Given the description of an element on the screen output the (x, y) to click on. 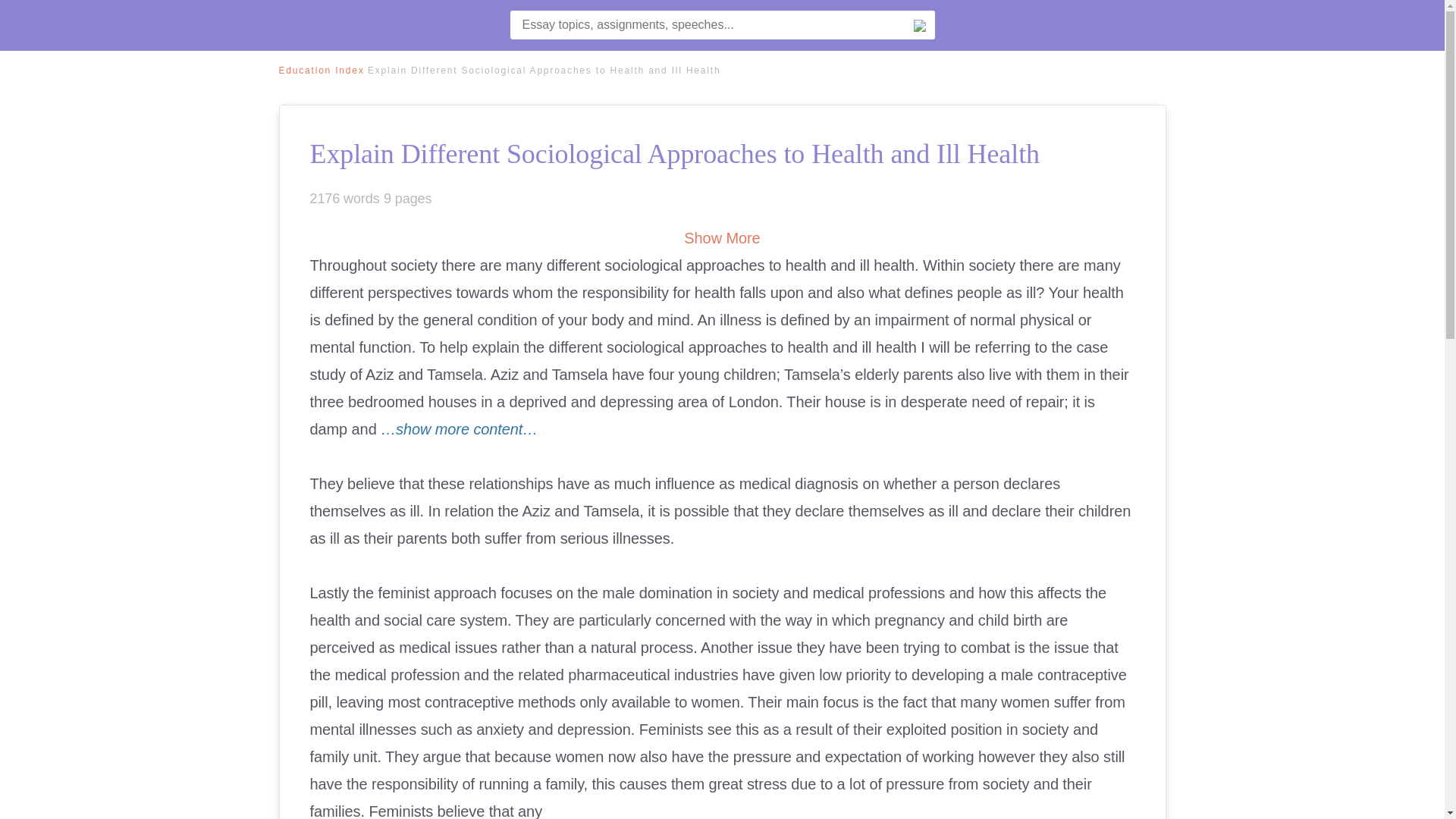
Education Index (322, 70)
Show More (722, 238)
